Given the description of an element on the screen output the (x, y) to click on. 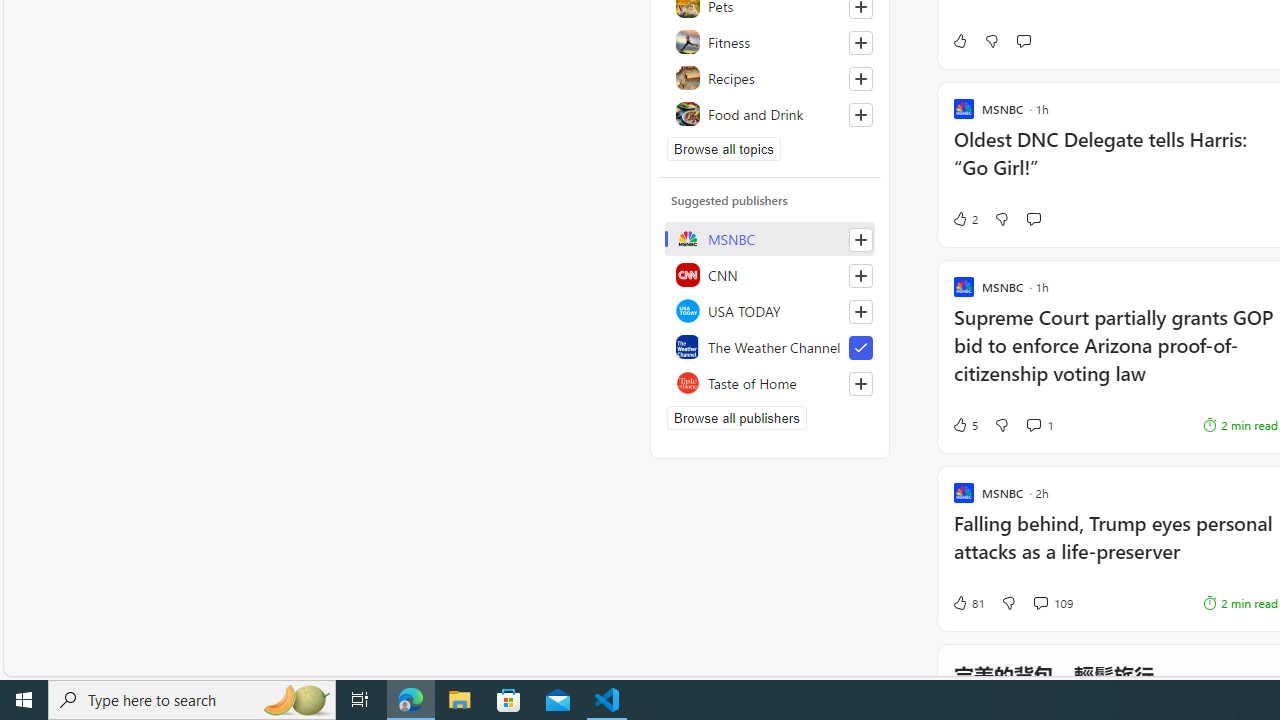
5 Like (964, 425)
